Given the description of an element on the screen output the (x, y) to click on. 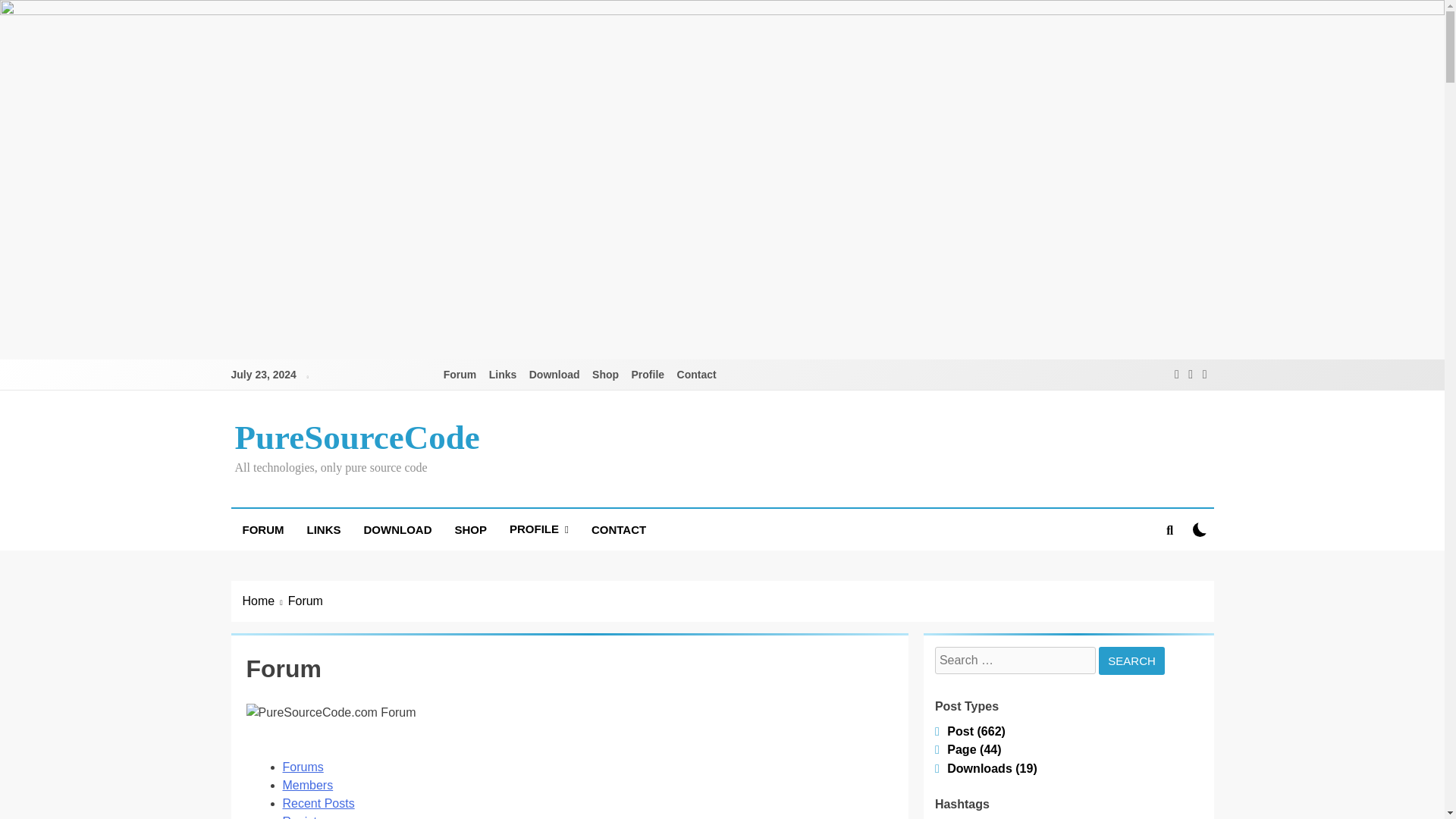
FORUM (262, 529)
LINKS (323, 529)
on (1199, 529)
PureSourceCode (357, 437)
Search (1131, 660)
Search (1131, 660)
Forum (460, 374)
Members (307, 784)
PROFILE (538, 529)
SHOP (469, 529)
Links (502, 374)
Home (265, 601)
Download (554, 374)
Recent Posts (317, 802)
Shop (605, 374)
